Given the description of an element on the screen output the (x, y) to click on. 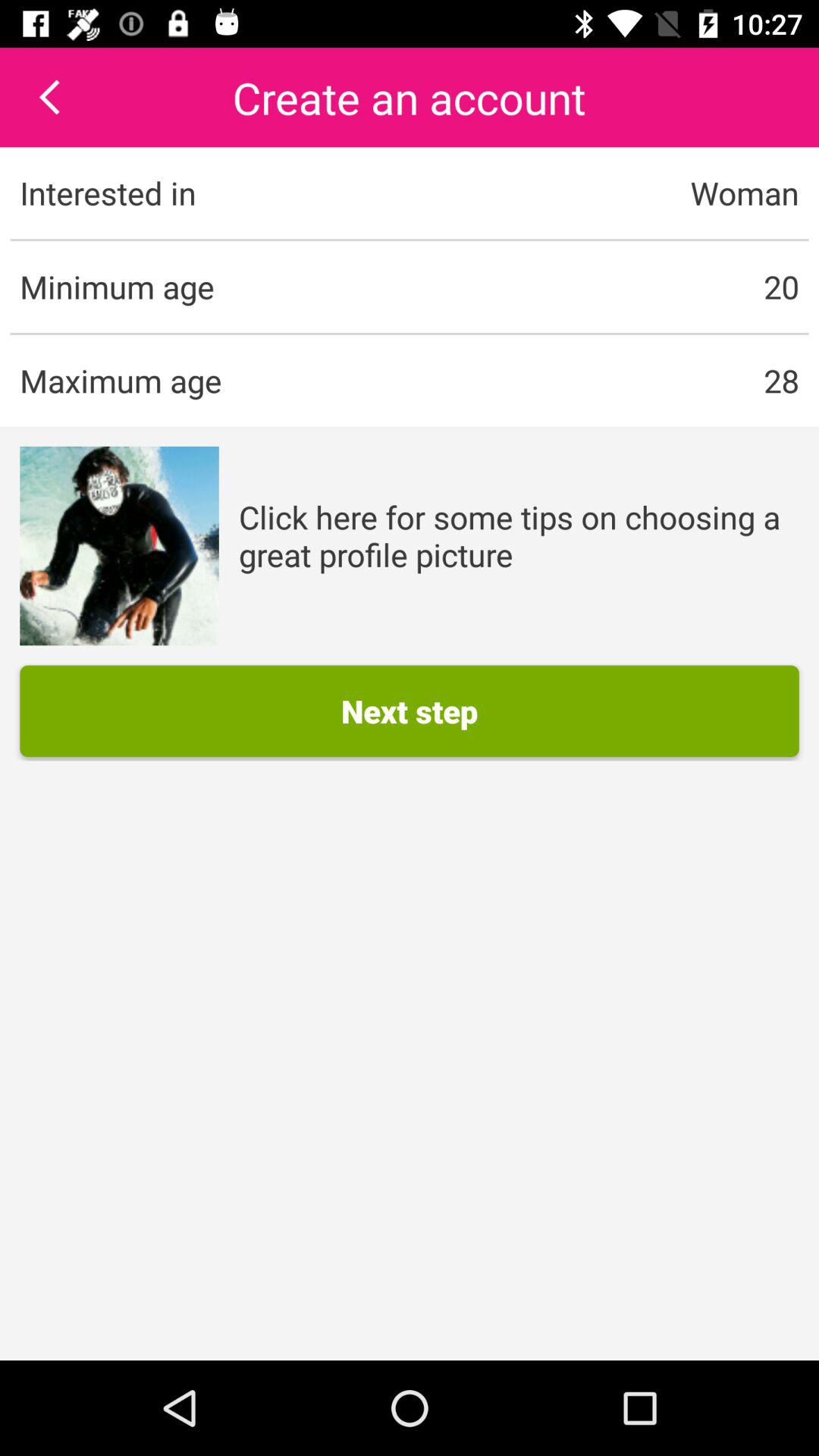
click icon on the left (118, 545)
